Given the description of an element on the screen output the (x, y) to click on. 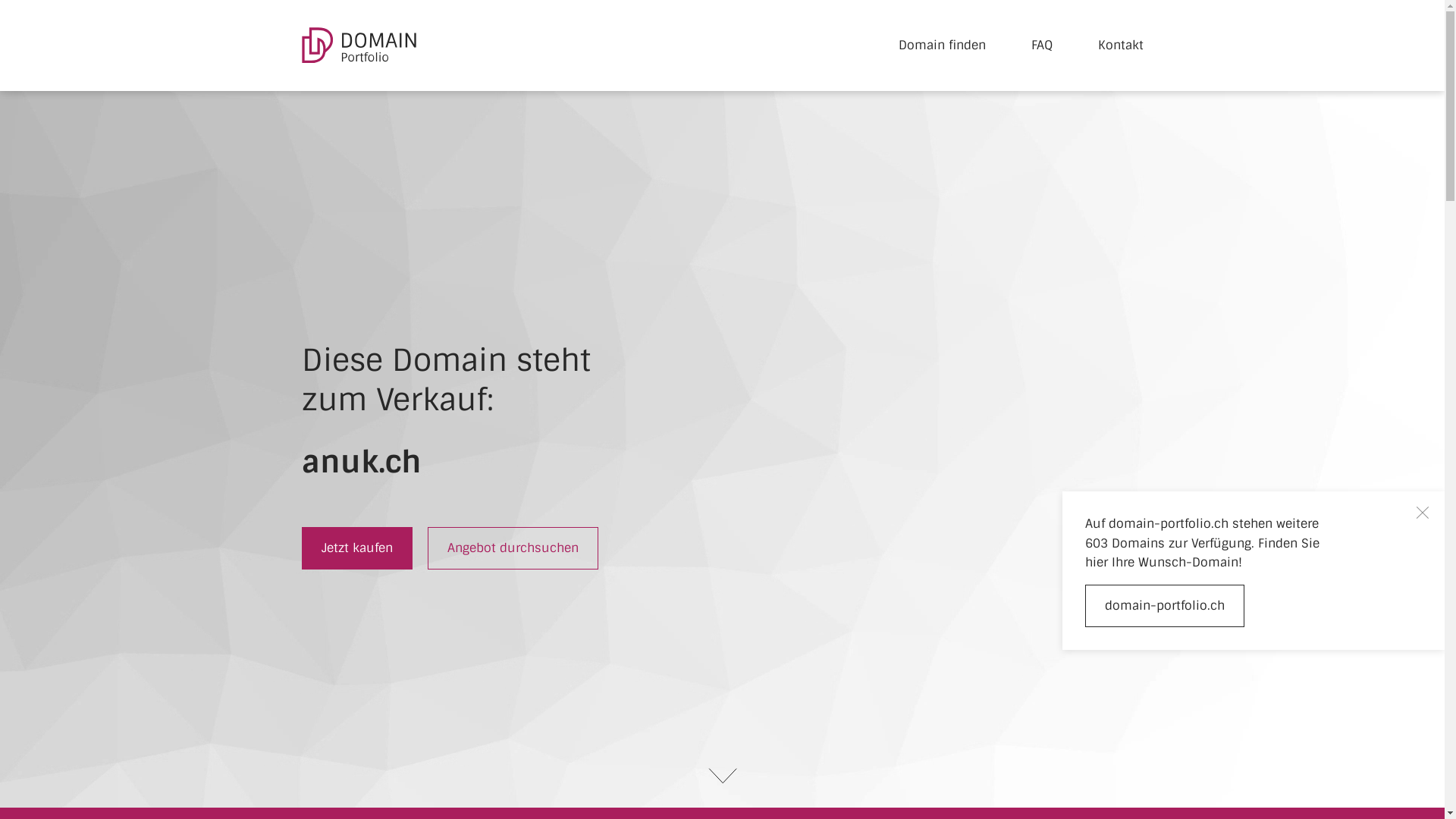
Domain finden Element type: text (941, 45)
domain-portfolio.ch Element type: text (1164, 605)
Angebot durchsuchen Element type: text (512, 548)
Jetzt kaufen Element type: text (356, 548)
Kontakt Element type: text (1120, 45)
FAQ Element type: text (1041, 45)
